Given the description of an element on the screen output the (x, y) to click on. 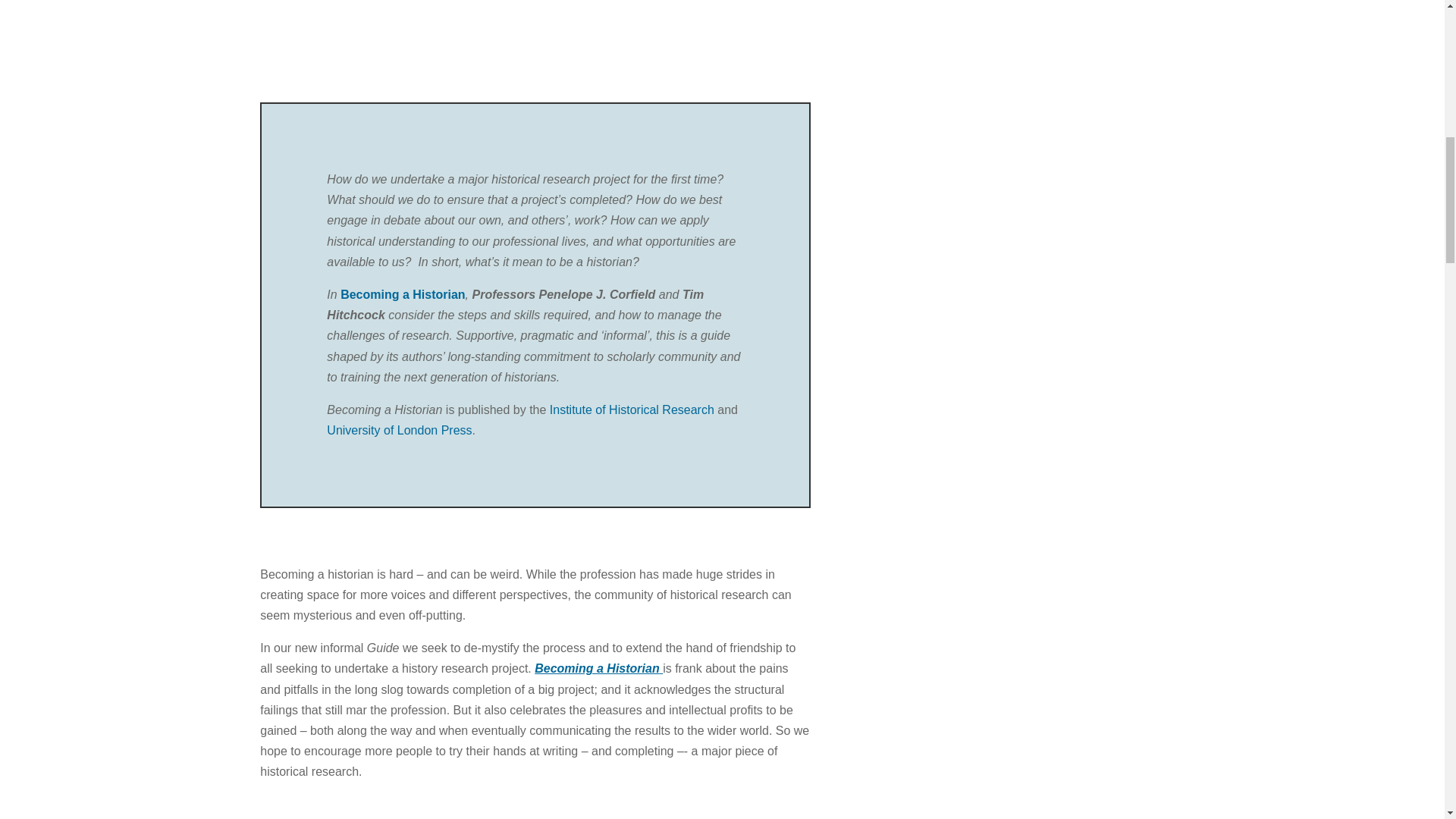
University of London Press (398, 430)
Becoming a Historian (402, 294)
Institute of Historical Research (632, 409)
Becoming a Historian (598, 667)
